Given the description of an element on the screen output the (x, y) to click on. 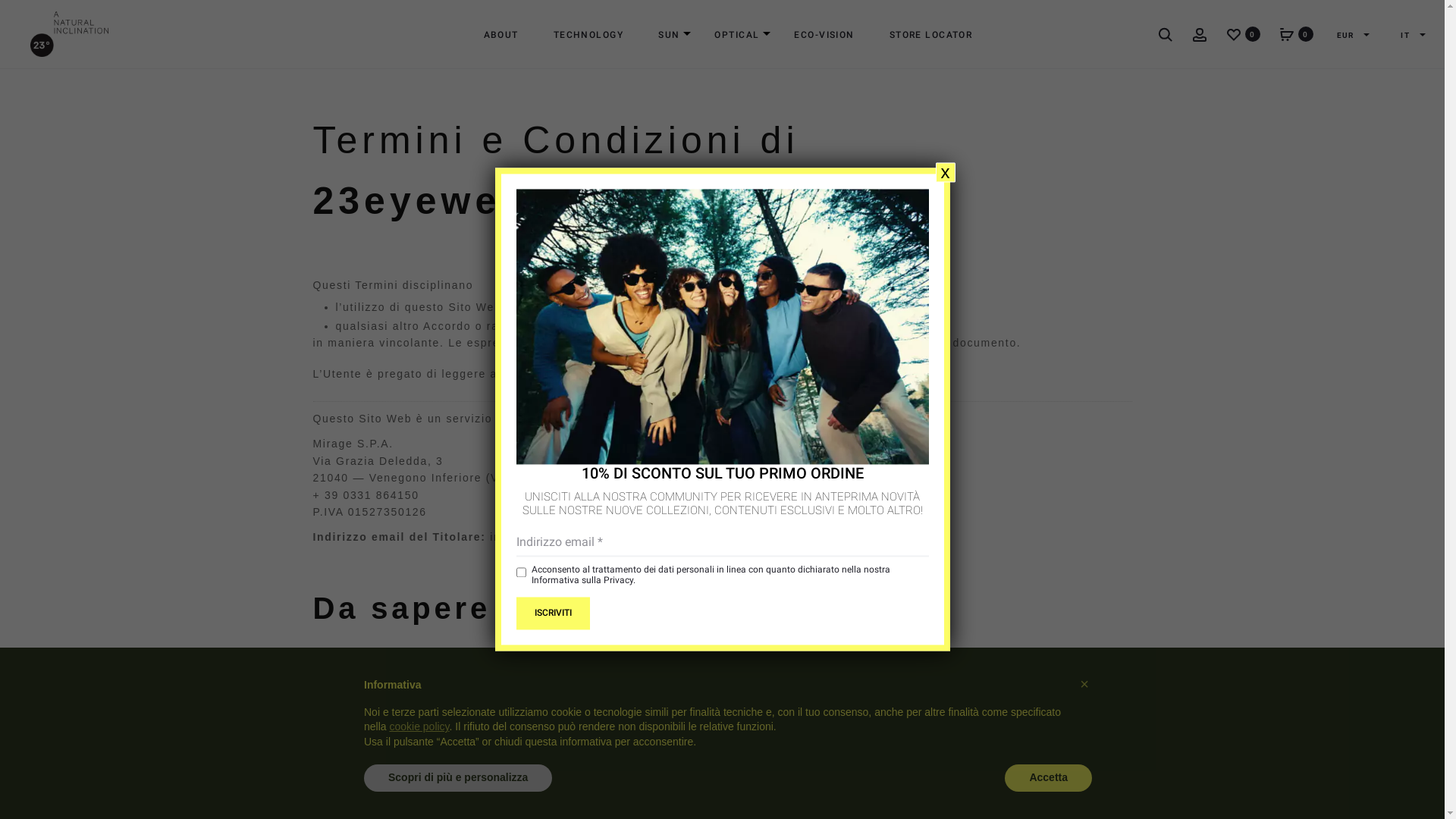
SUN Element type: text (668, 34)
Accetta Element type: text (1048, 777)
OPTICAL Element type: text (736, 34)
ECO-VISION Element type: text (823, 34)
x Element type: text (945, 172)
0 Element type: text (1286, 33)
TECHNOLOGY Element type: text (588, 34)
cookie policy Element type: text (418, 726)
Informativa sulla Privacy Element type: text (581, 579)
0 Element type: text (1233, 33)
Iscriviti Element type: text (552, 612)
Search Element type: text (1165, 33)
Account Element type: text (1199, 33)
STORE LOCATOR Element type: text (930, 34)
ABOUT Element type: text (500, 34)
